Given the description of an element on the screen output the (x, y) to click on. 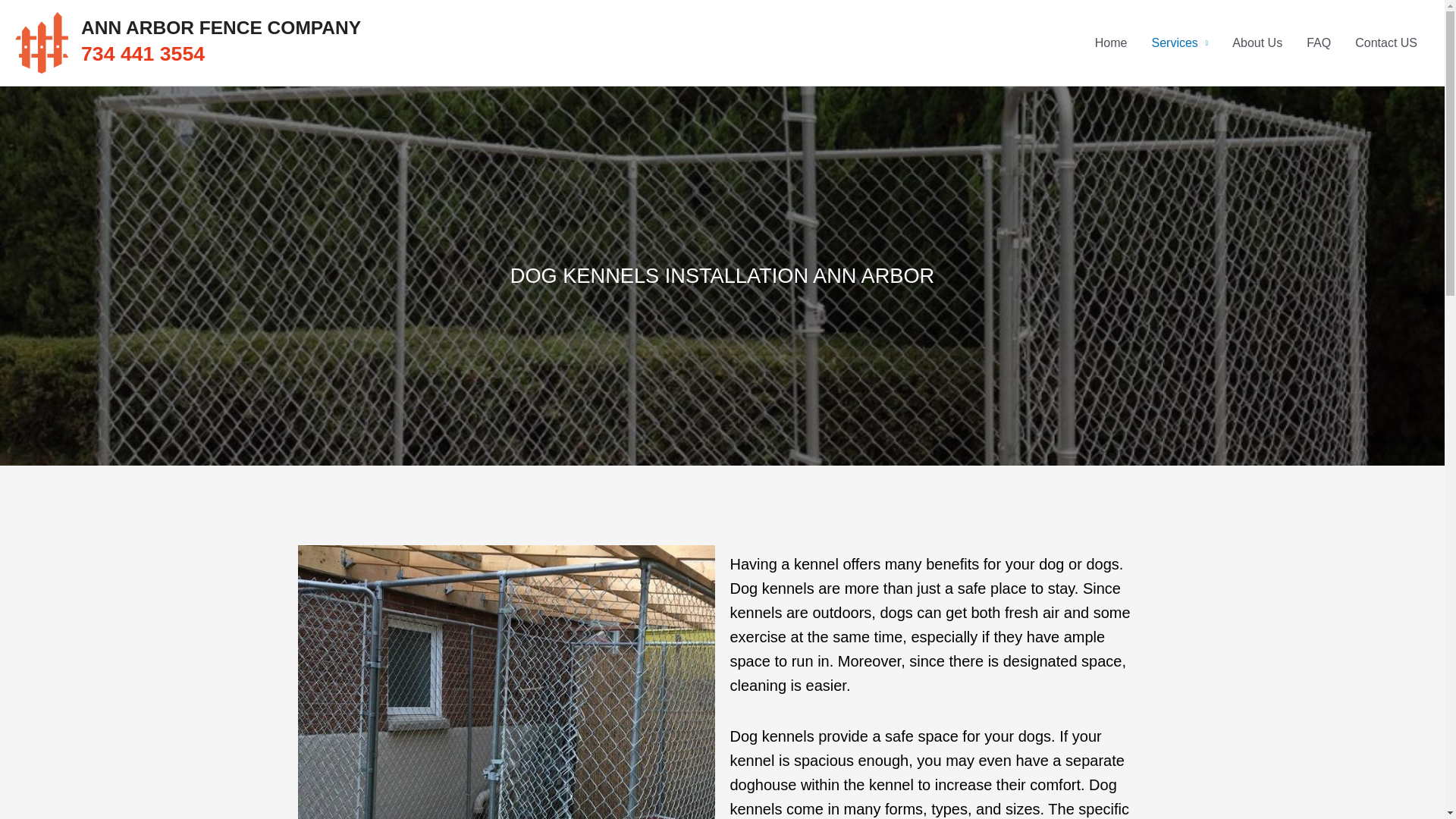
DOG KENNELS INSTALLATION ANN ARBOR (721, 275)
Contact US (1385, 42)
ANN ARBOR FENCE COMPANY (221, 27)
Services (1179, 42)
